Given the description of an element on the screen output the (x, y) to click on. 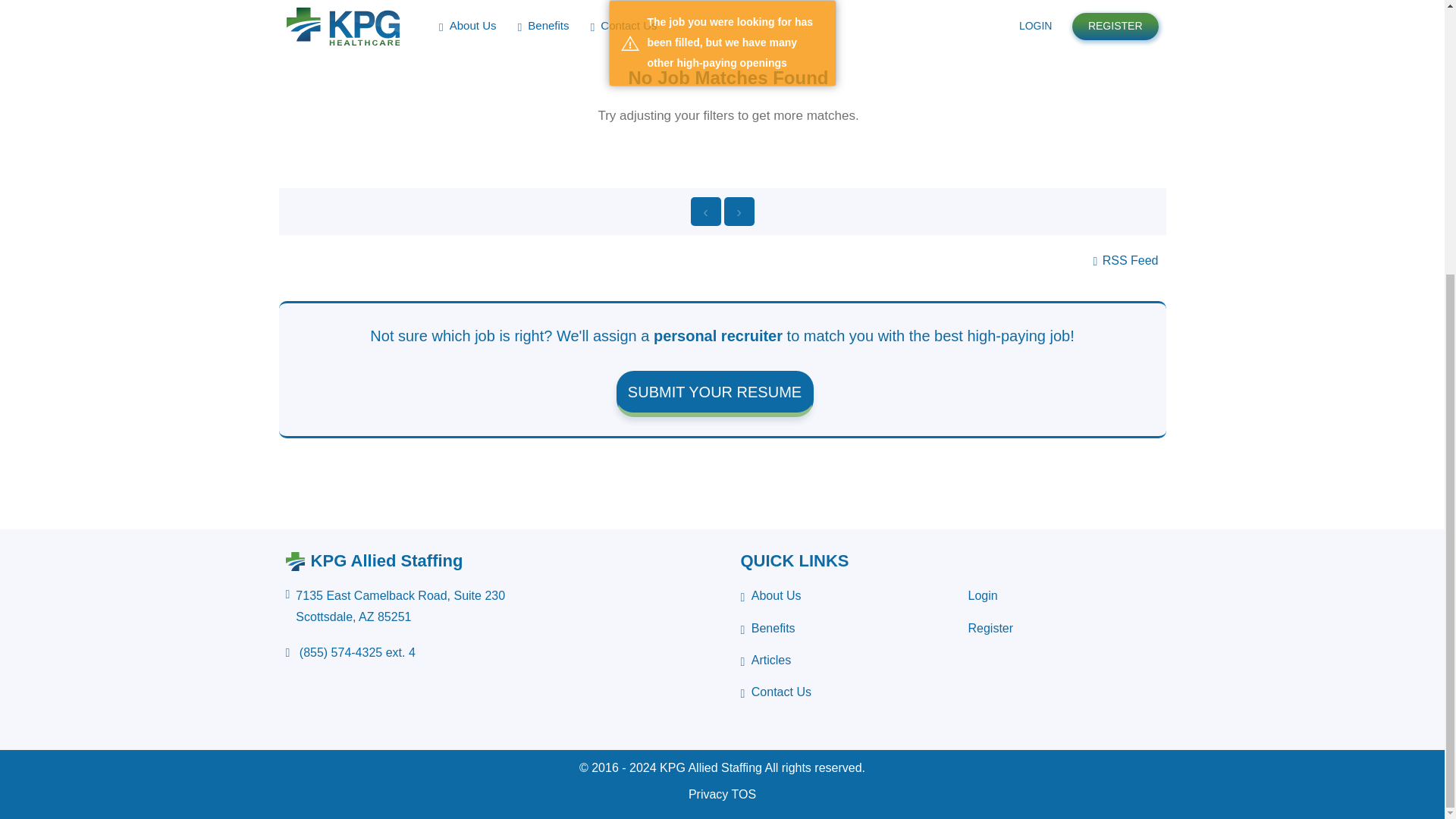
Register (990, 627)
Contact Us (774, 692)
Articles (764, 660)
Privacy (708, 793)
RSS Feed (1125, 259)
SUBMIT YOUR RESUME (713, 393)
Login (982, 594)
About Us (395, 605)
Benefits (769, 595)
TOS (766, 628)
